Given the description of an element on the screen output the (x, y) to click on. 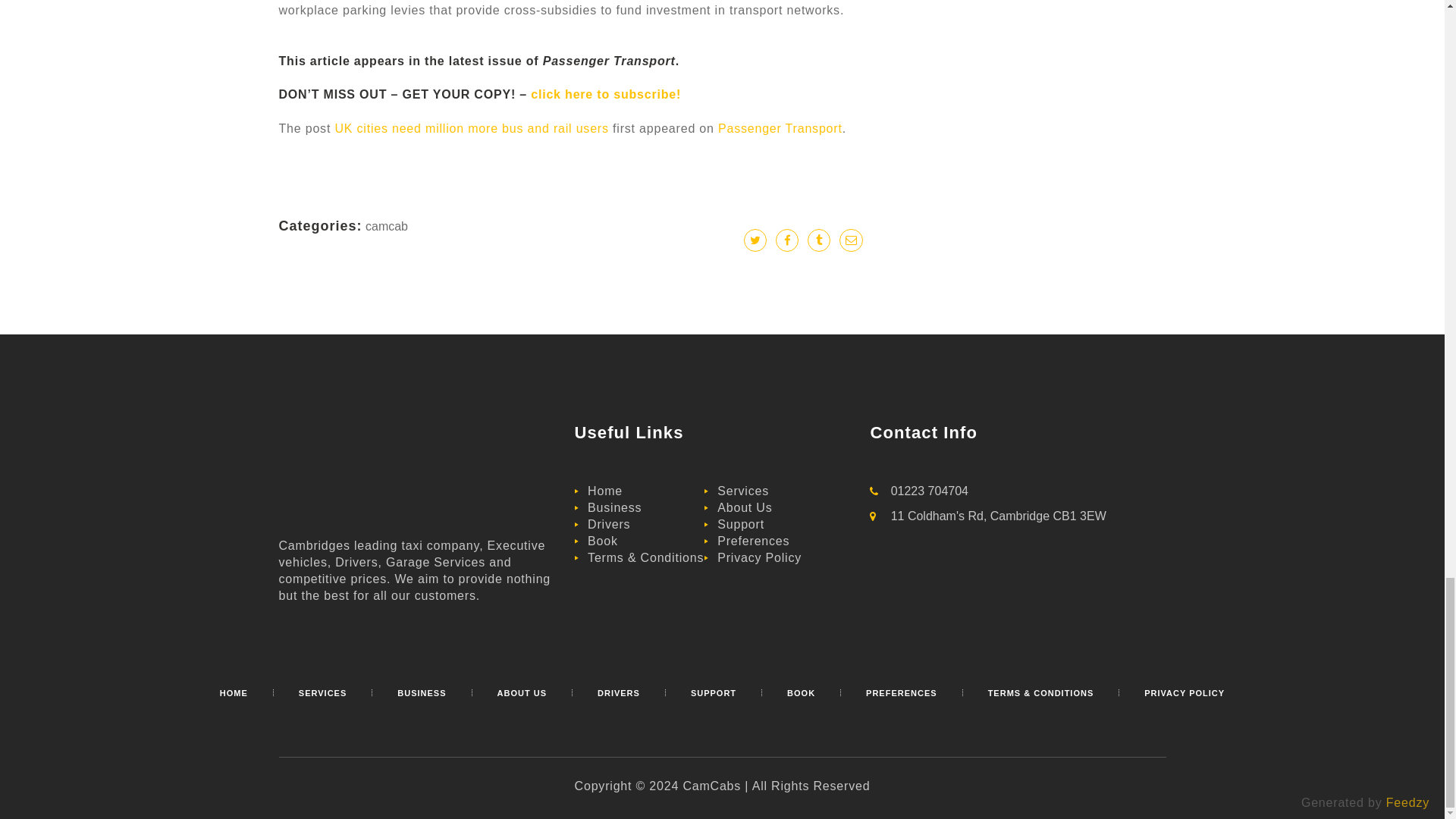
camcab (386, 226)
UK cities need million more bus and rail users (471, 128)
Passenger Transport (780, 128)
click here to subscribe! (606, 93)
